Given the description of an element on the screen output the (x, y) to click on. 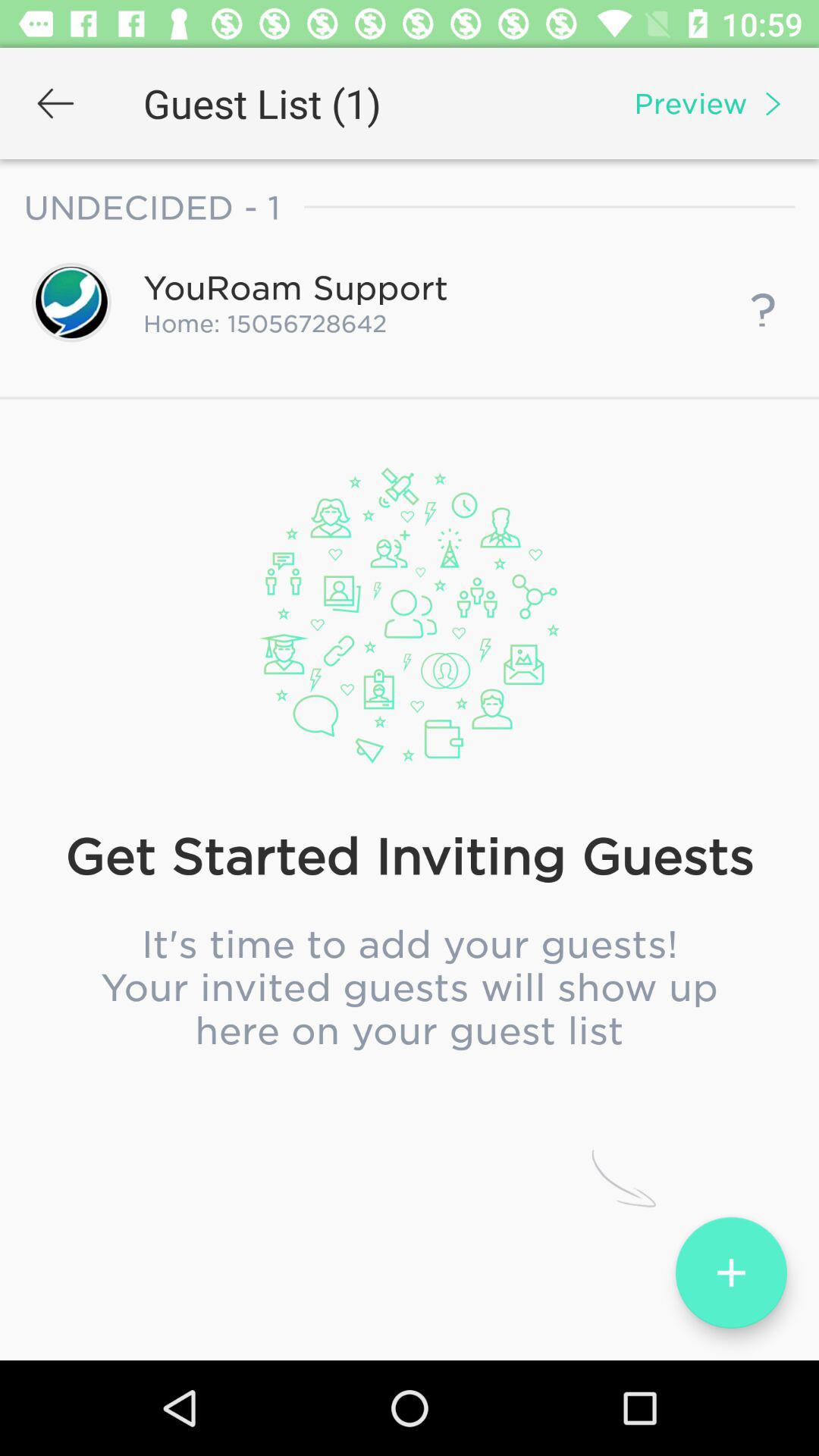
flip until sat apr 15 icon (409, 630)
